Given the description of an element on the screen output the (x, y) to click on. 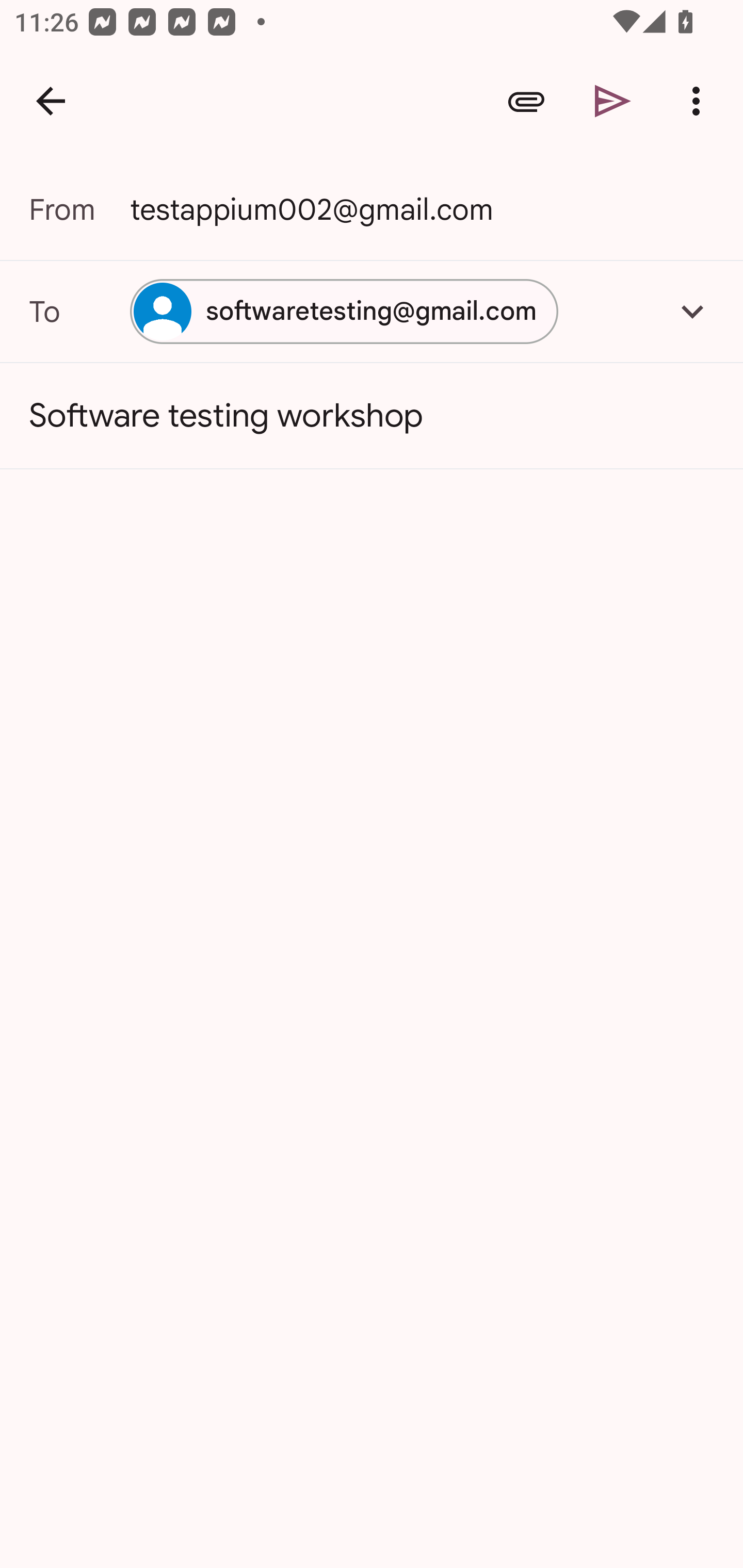
Navigate up (50, 101)
Attach file (525, 101)
Send (612, 101)
More options (699, 101)
From (79, 209)
Add Cc/Bcc (692, 311)
Software testing workshop (371, 415)
